Given the description of an element on the screen output the (x, y) to click on. 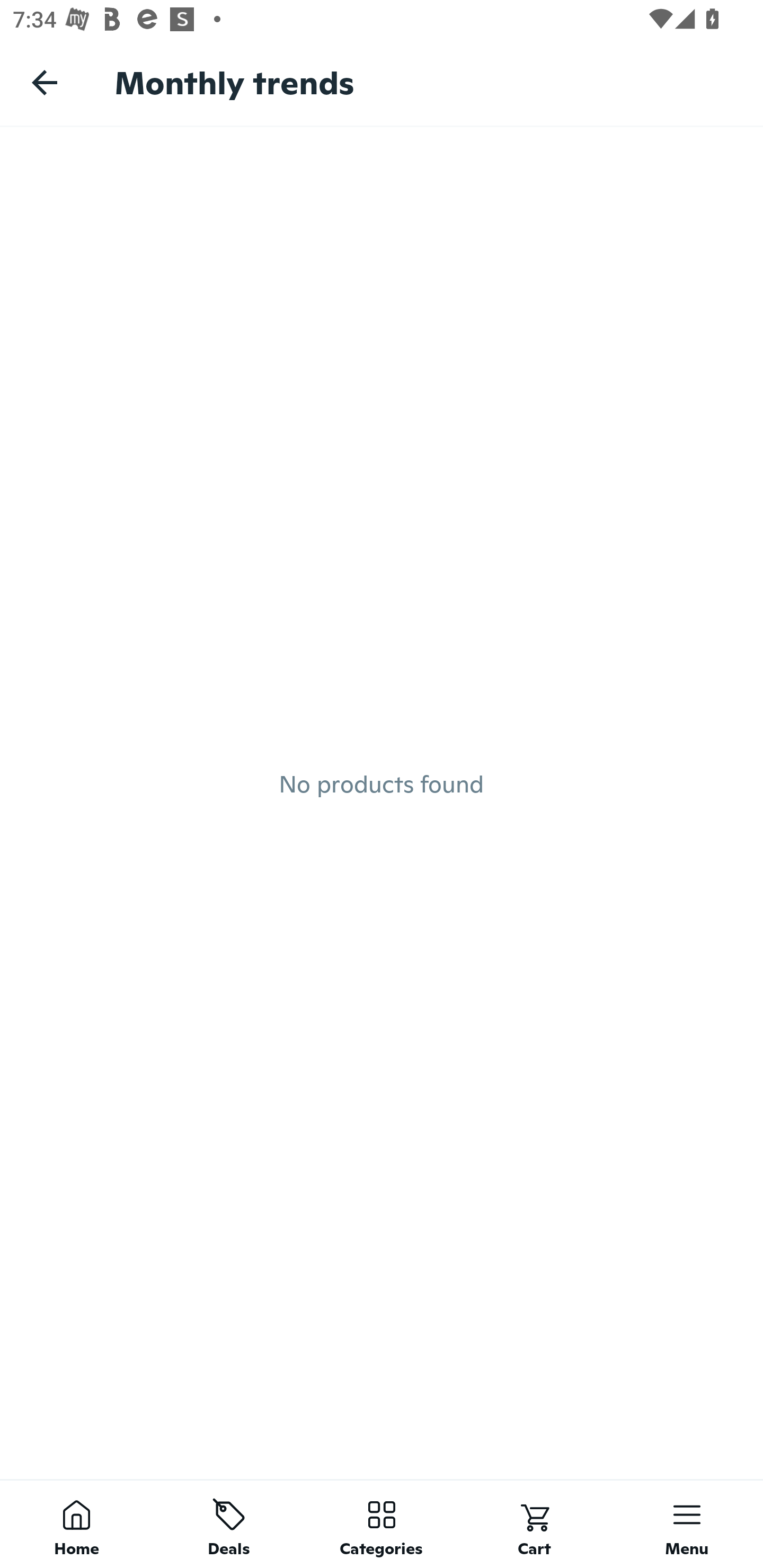
Navigate up (44, 82)
Home (76, 1523)
Deals (228, 1523)
Categories (381, 1523)
Cart (533, 1523)
Menu (686, 1523)
